Given the description of an element on the screen output the (x, y) to click on. 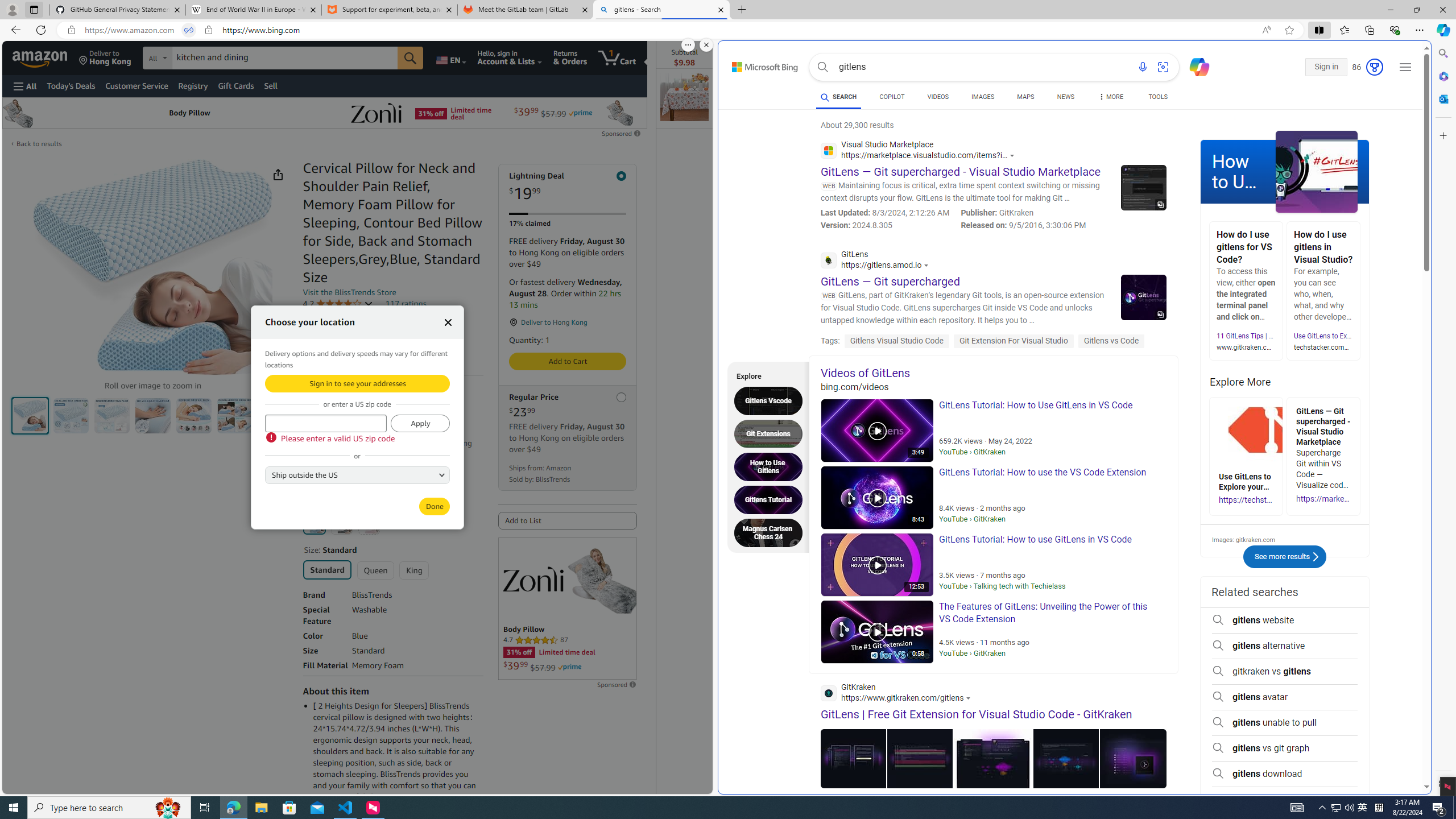
gitlens avatar (1283, 697)
Shop items (327, 481)
Grey (341, 522)
How to Use GitLens (1283, 171)
COPILOT (892, 96)
Back to Bing search (757, 64)
gitlens free alternative (1283, 799)
TOOLS (1157, 98)
Pink (369, 522)
SEARCH (838, 96)
